Given the description of an element on the screen output the (x, y) to click on. 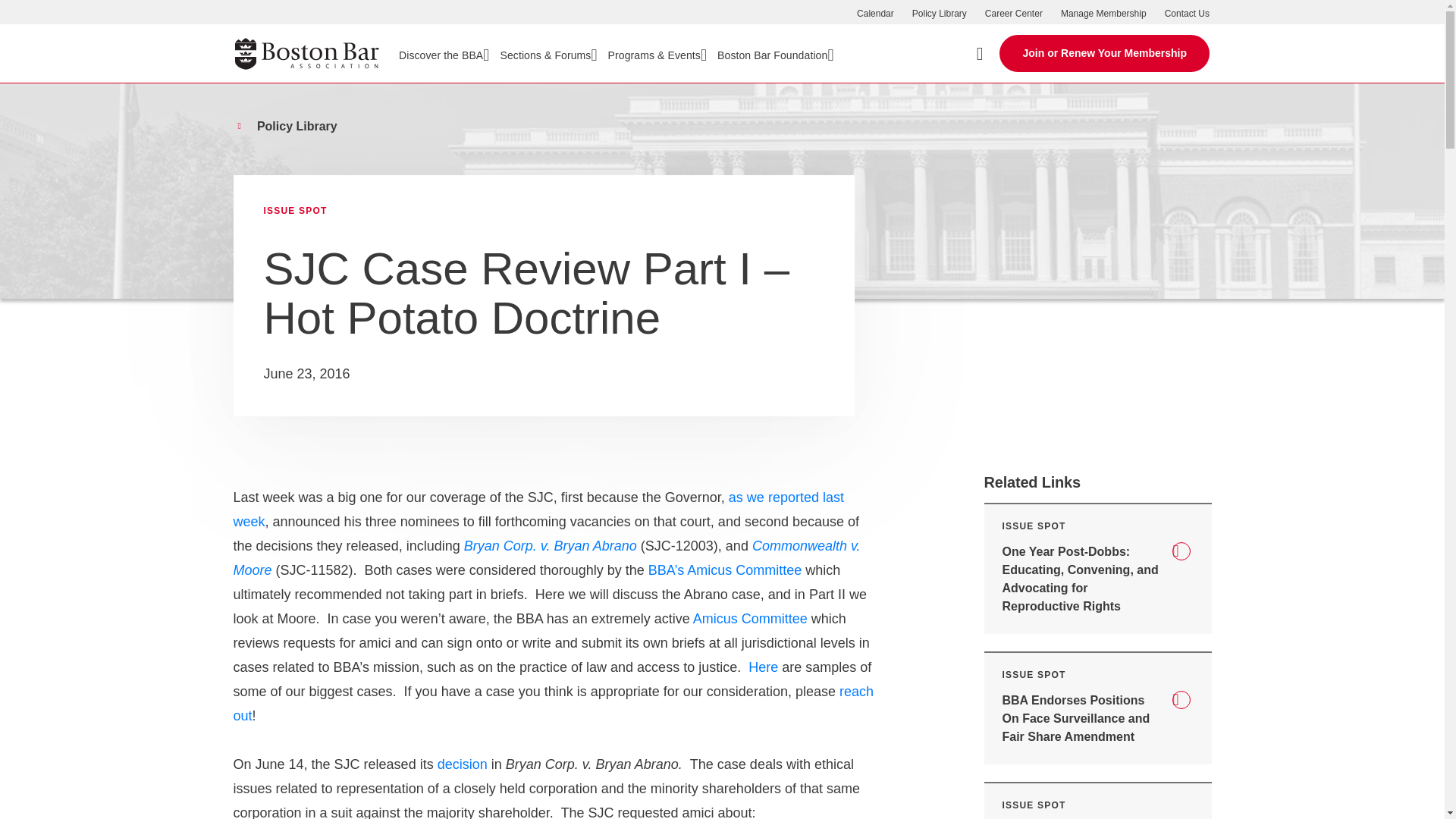
Contact Us (1186, 13)
Career Center (1013, 13)
Manage Membership (1104, 13)
Calendar (875, 13)
Policy Library (939, 13)
Discover the BBA (443, 53)
